Given the description of an element on the screen output the (x, y) to click on. 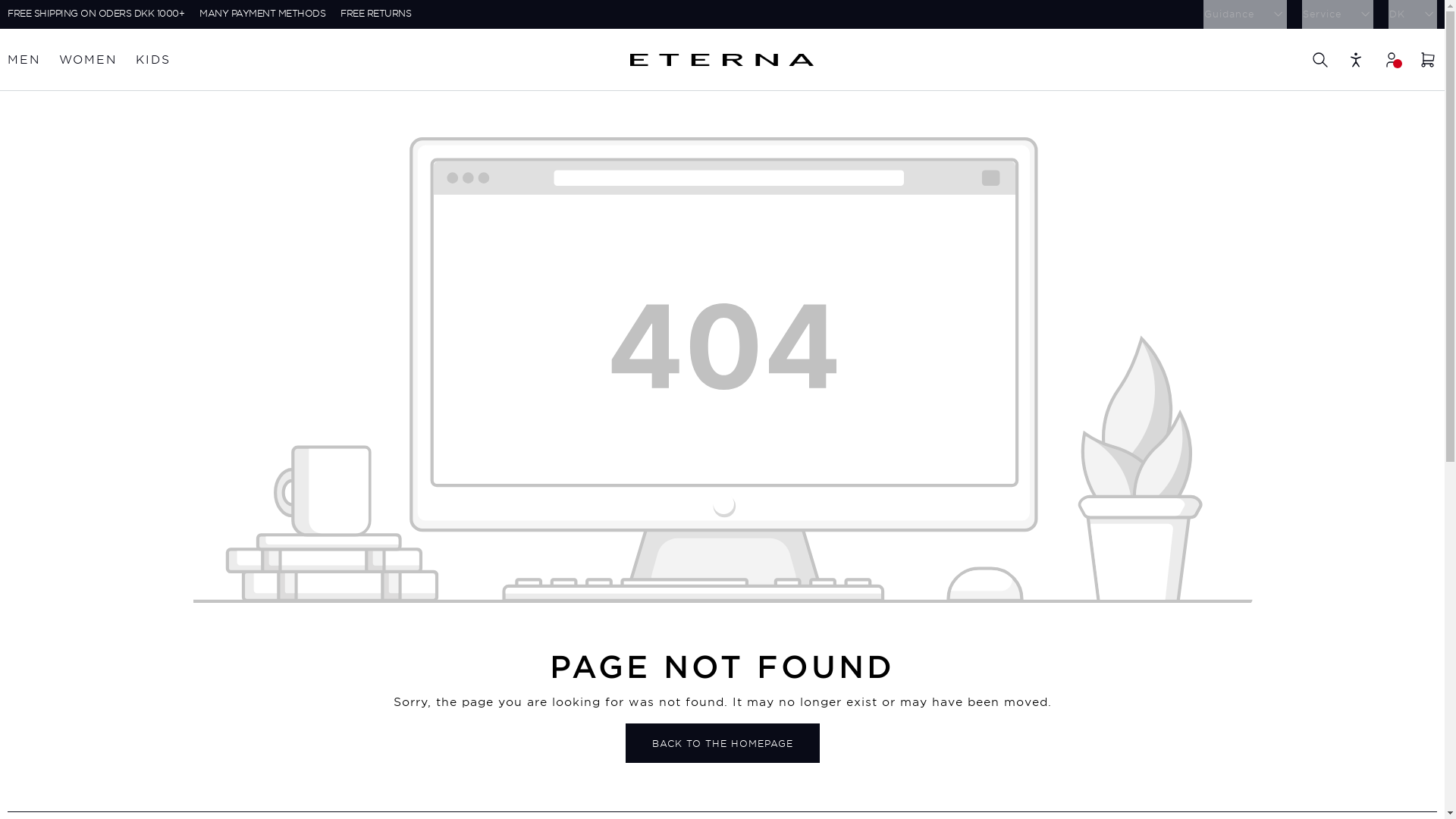
Service (1337, 14)
Guidance (1244, 14)
DK (1413, 14)
KIDS (152, 59)
MEN (23, 59)
WOMEN (87, 59)
